Given the description of an element on the screen output the (x, y) to click on. 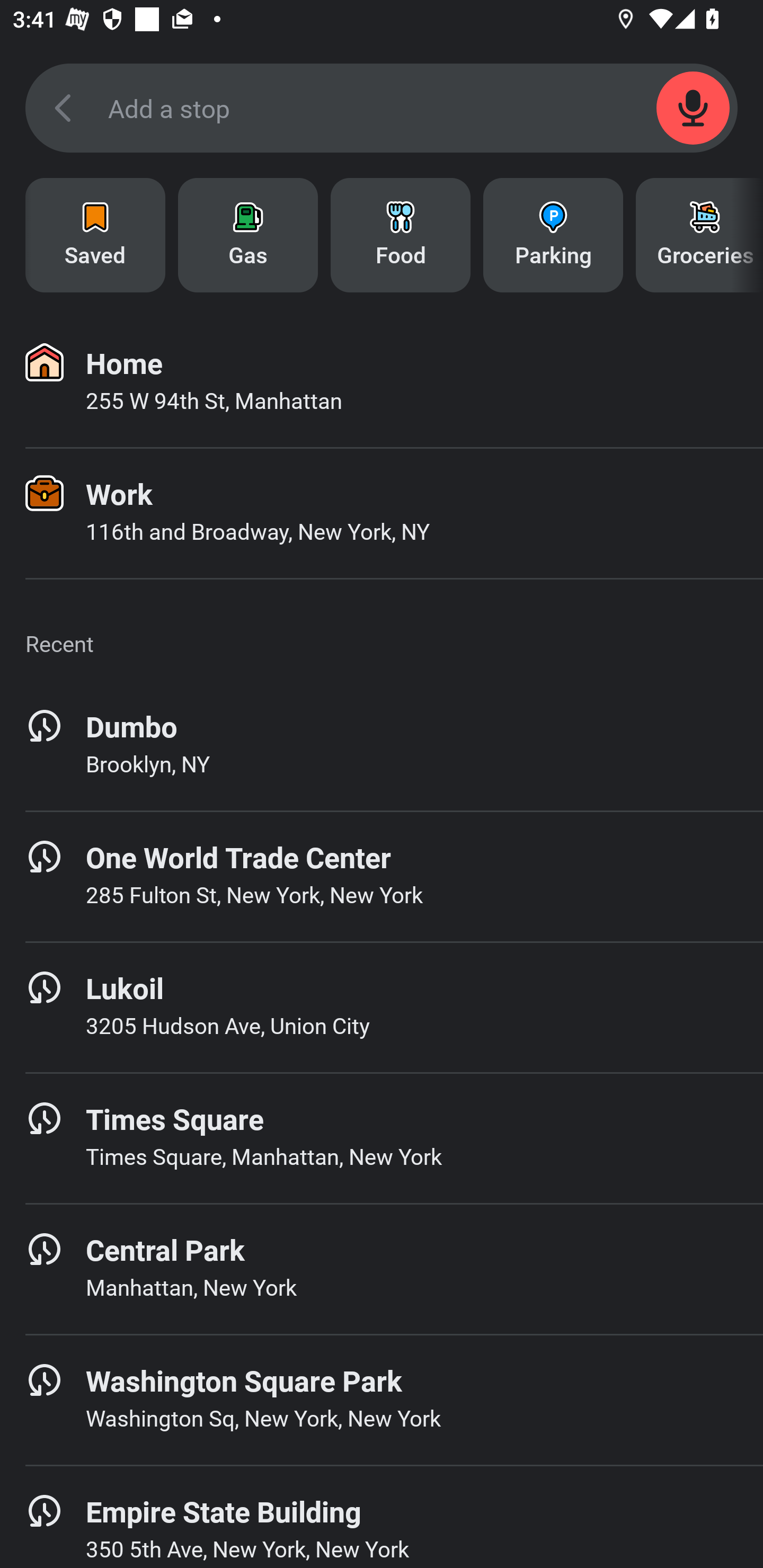
SEARCH_SCREEN_SEARCH_FIELD Add a stop (381, 108)
Saved (95, 234)
Gas (247, 234)
Food (400, 234)
Parking (552, 234)
Groceries (699, 234)
Home 255 W 94th St, Manhattan (381, 382)
Work 116th and Broadway, New York, NY (381, 513)
Dumbo Brooklyn, NY (381, 745)
Lukoil 3205 Hudson Ave, Union City (381, 1007)
Times Square Times Square, Manhattan, New York (381, 1138)
Central Park Manhattan, New York (381, 1269)
